Given the description of an element on the screen output the (x, y) to click on. 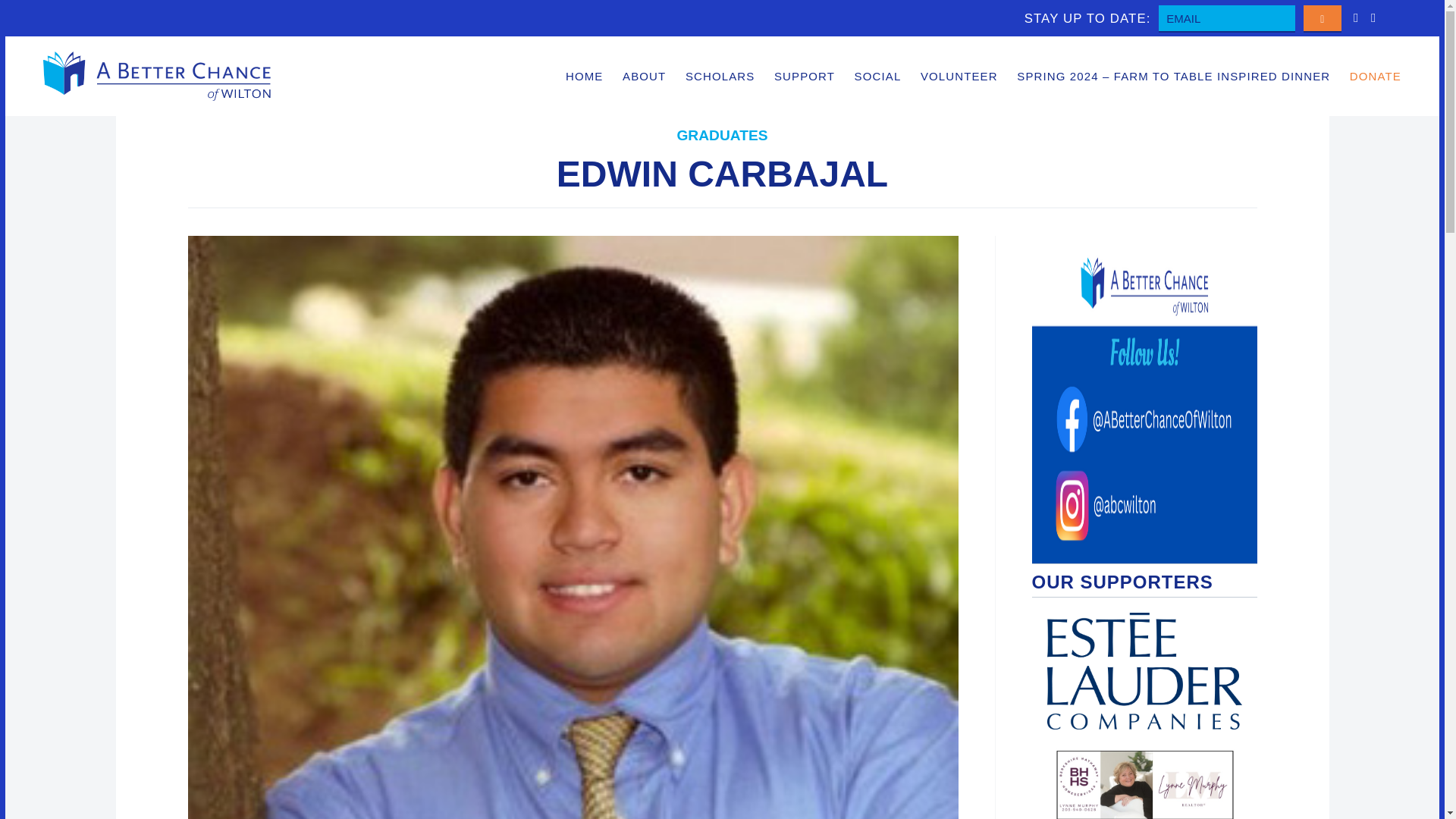
SCHOLARS (719, 76)
ABOUT (644, 76)
VOLUNTEER (958, 76)
SOCIAL (877, 76)
Show Search (1399, 17)
DONATE (1374, 76)
HOME (584, 76)
SUPPORT (804, 76)
